Given the description of an element on the screen output the (x, y) to click on. 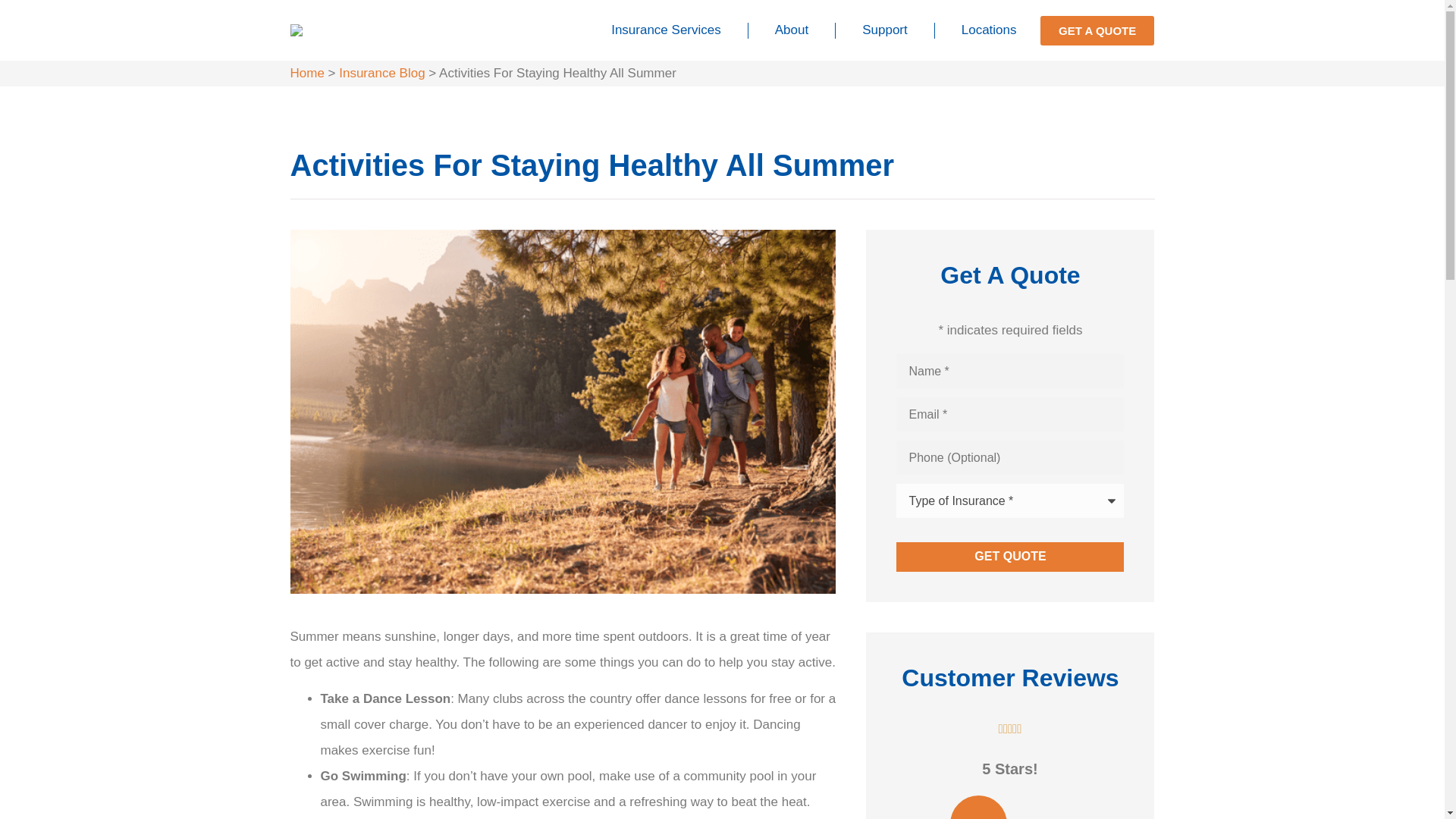
Insurance Services (665, 30)
Get Quote (1010, 556)
About (792, 30)
